Given the description of an element on the screen output the (x, y) to click on. 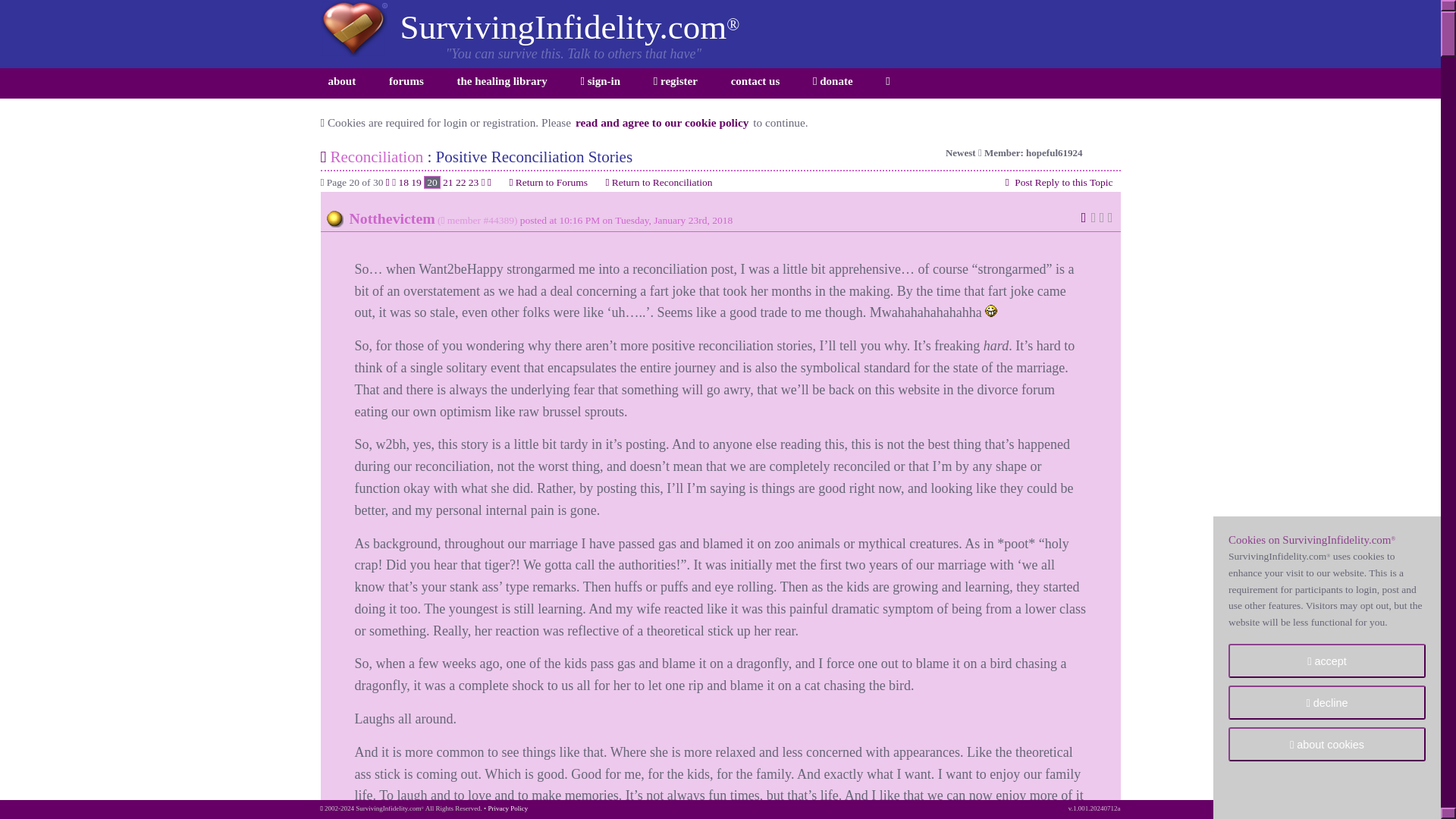
Reconciliation (376, 157)
Post Reply to this Topic (1058, 182)
18 (403, 182)
donate (832, 82)
forums (405, 82)
the healing library (501, 82)
contact us (755, 82)
register (675, 82)
about (341, 82)
sign-in (599, 82)
read and agree to our cookie policy (662, 122)
